Given the description of an element on the screen output the (x, y) to click on. 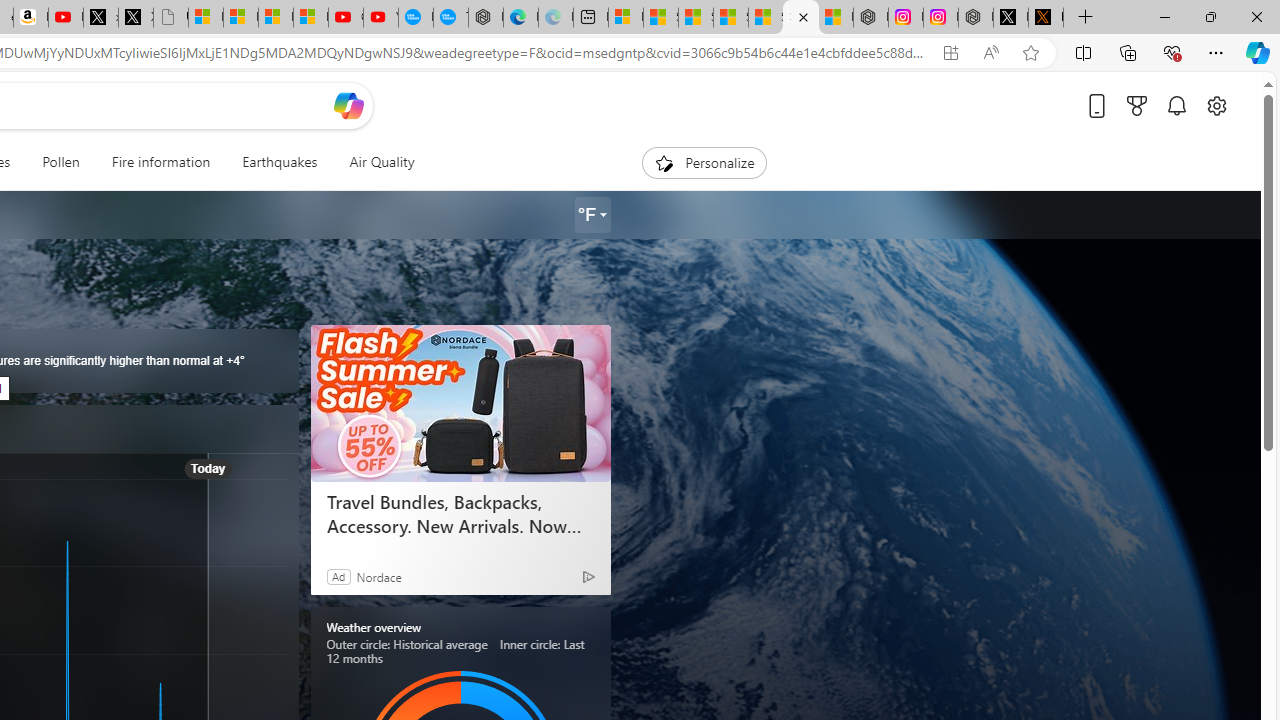
Air Quality (373, 162)
Untitled (170, 17)
Air Quality (381, 162)
App available. Install Microsoft Start Weather (950, 53)
Fire information (161, 162)
